Given the description of an element on the screen output the (x, y) to click on. 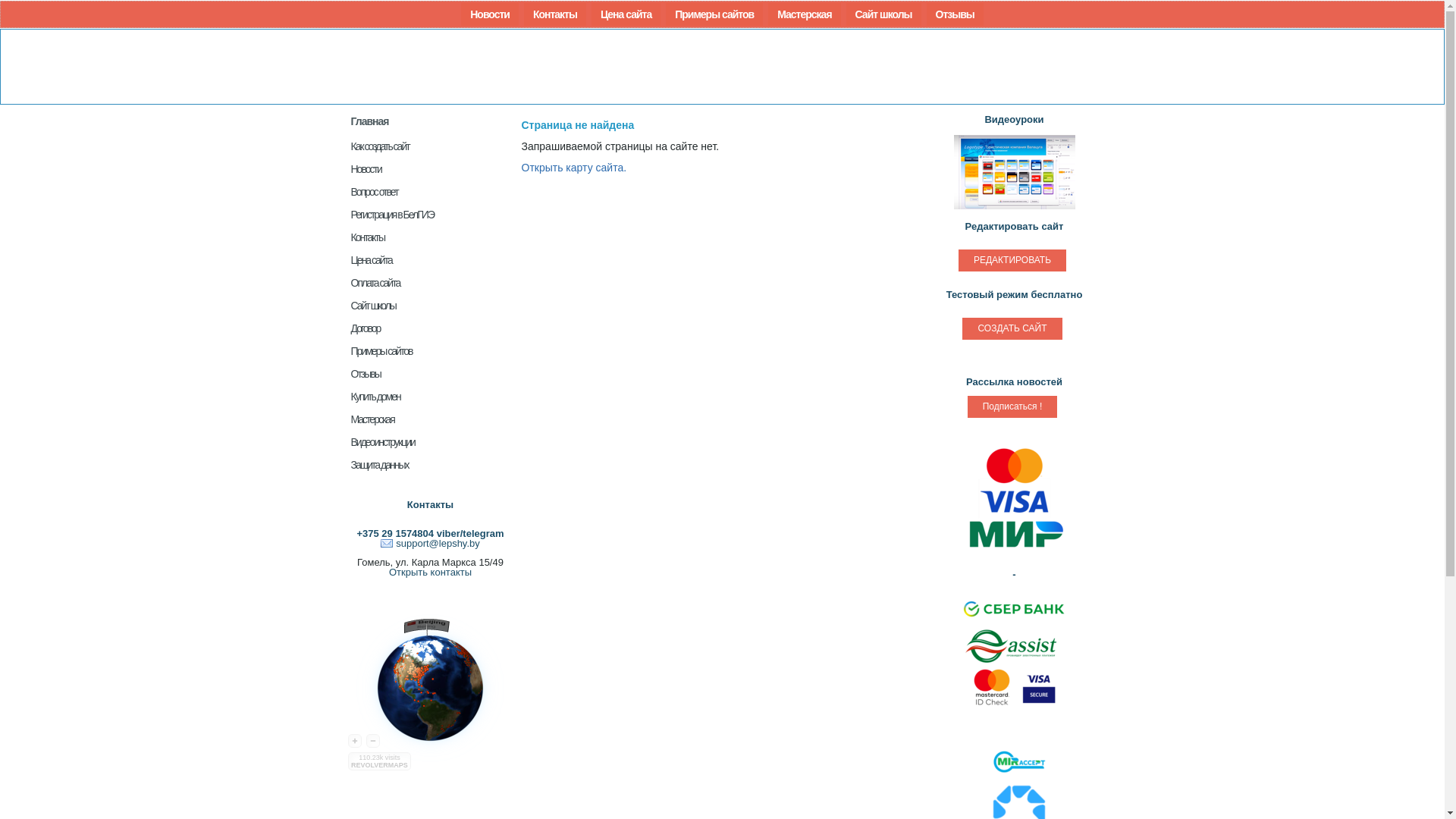
support@lepshy.by Element type: text (430, 542)
+375 29 1574804 viber/telegram Element type: text (429, 533)
